Given the description of an element on the screen output the (x, y) to click on. 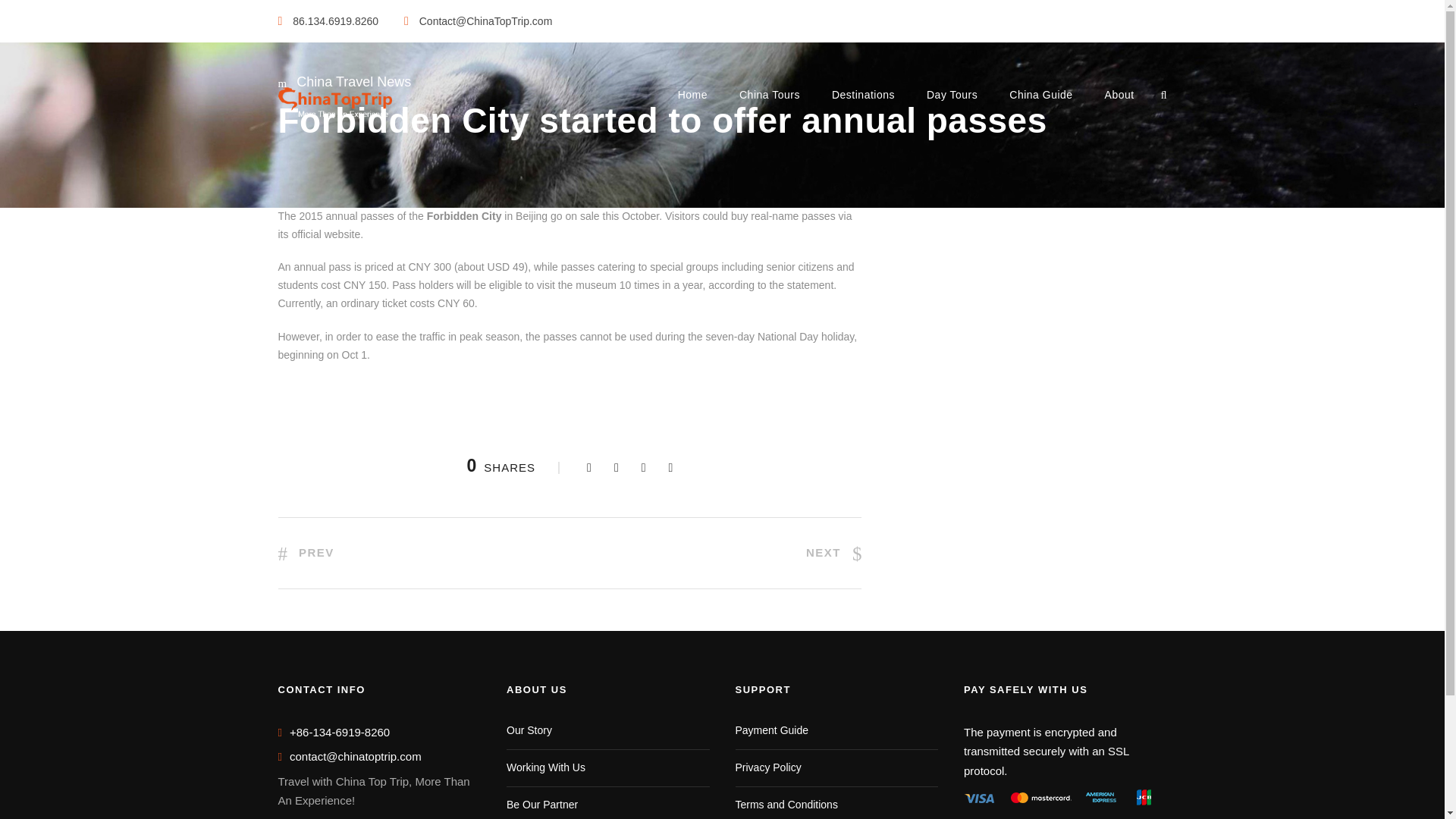
China Tours (769, 102)
Destinations (863, 102)
Day Tours (951, 102)
logo-china-top-trip (334, 102)
